Given the description of an element on the screen output the (x, y) to click on. 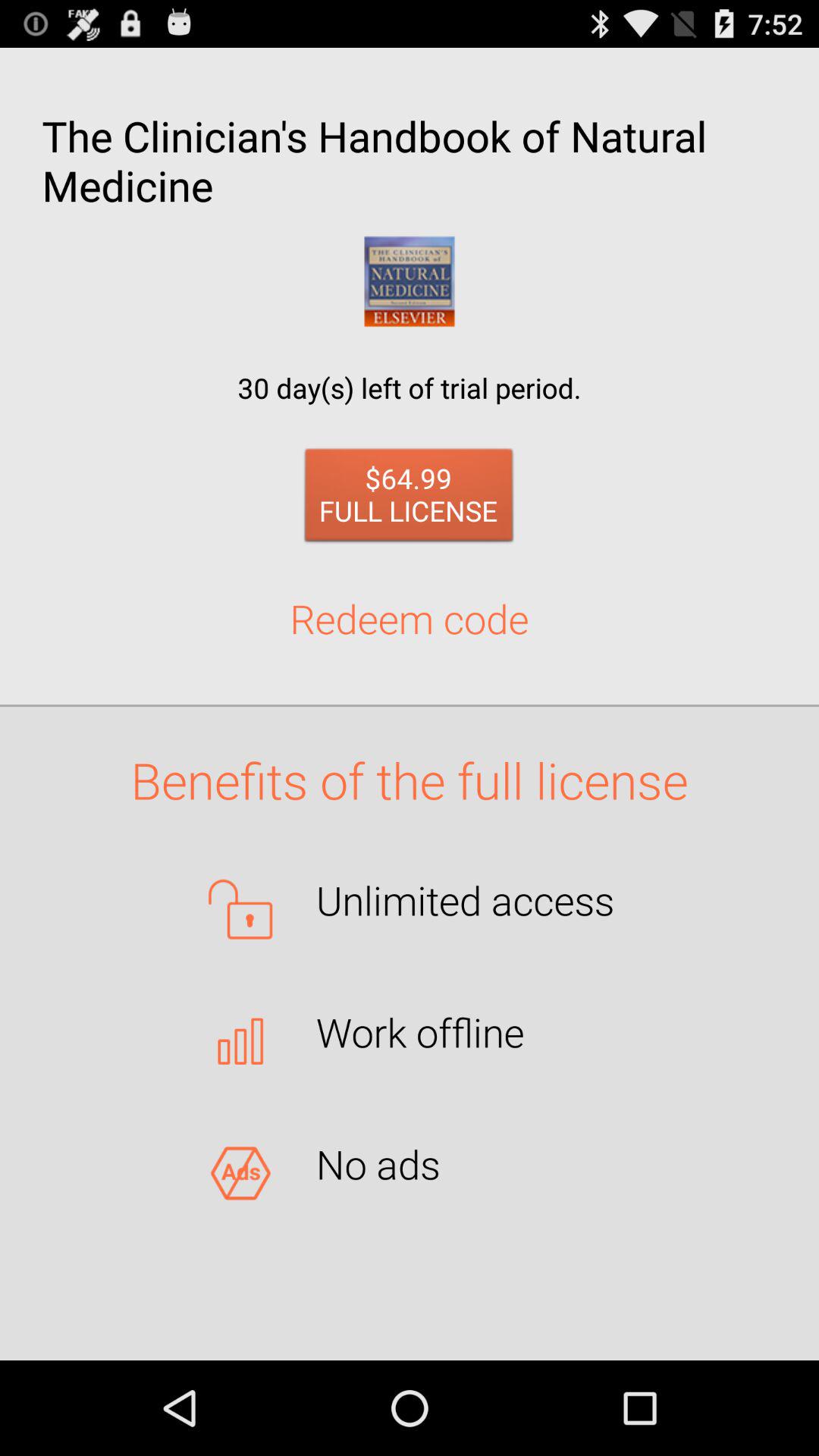
swipe to 64 99 full button (409, 499)
